Given the description of an element on the screen output the (x, y) to click on. 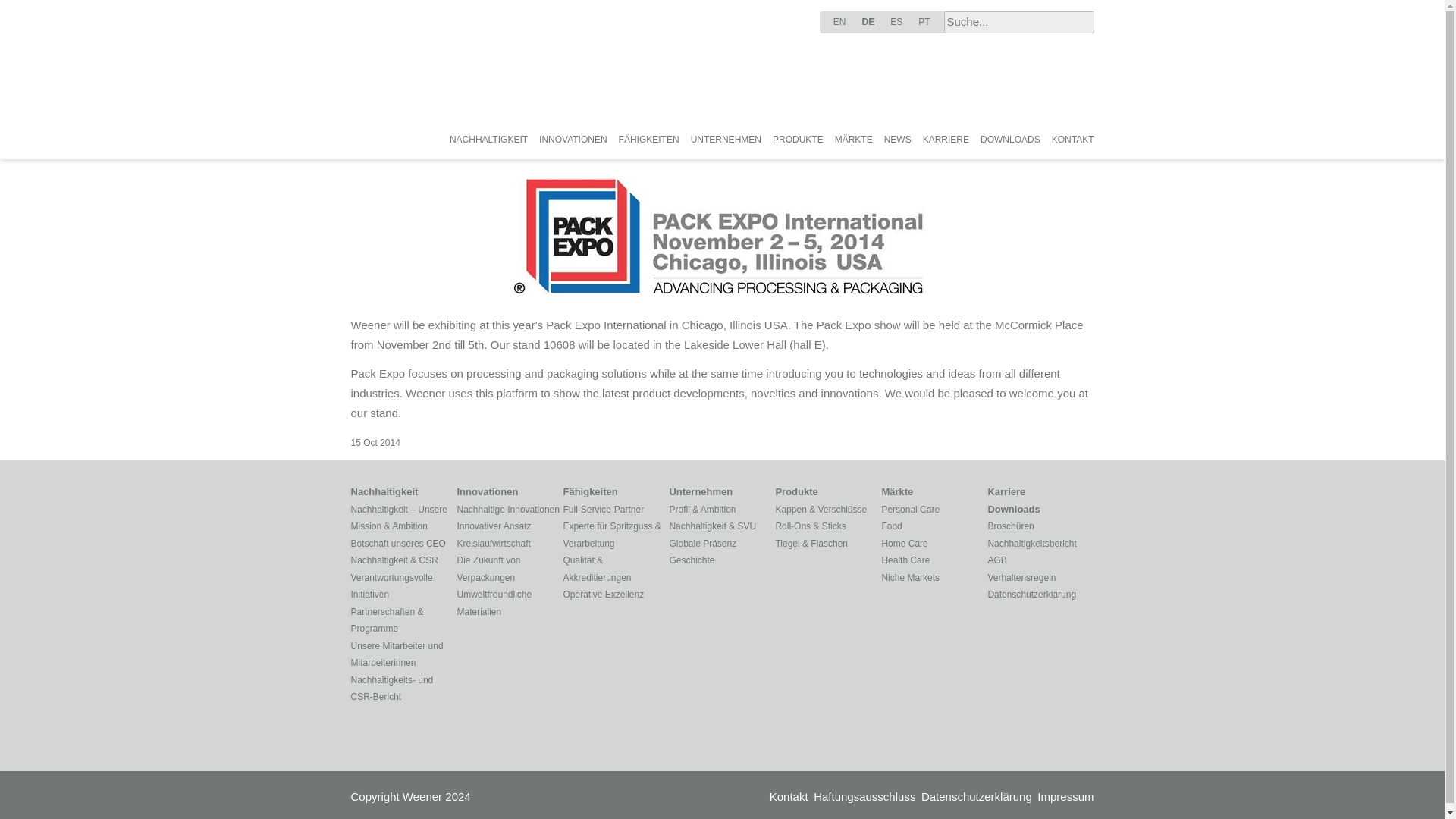
EN (839, 19)
DE (867, 19)
PRODUKTE (798, 139)
PT (923, 19)
INNOVATIONEN (572, 139)
ES (896, 19)
NACHHALTIGKEIT (488, 139)
UNTERNEHMEN (725, 139)
